Given the description of an element on the screen output the (x, y) to click on. 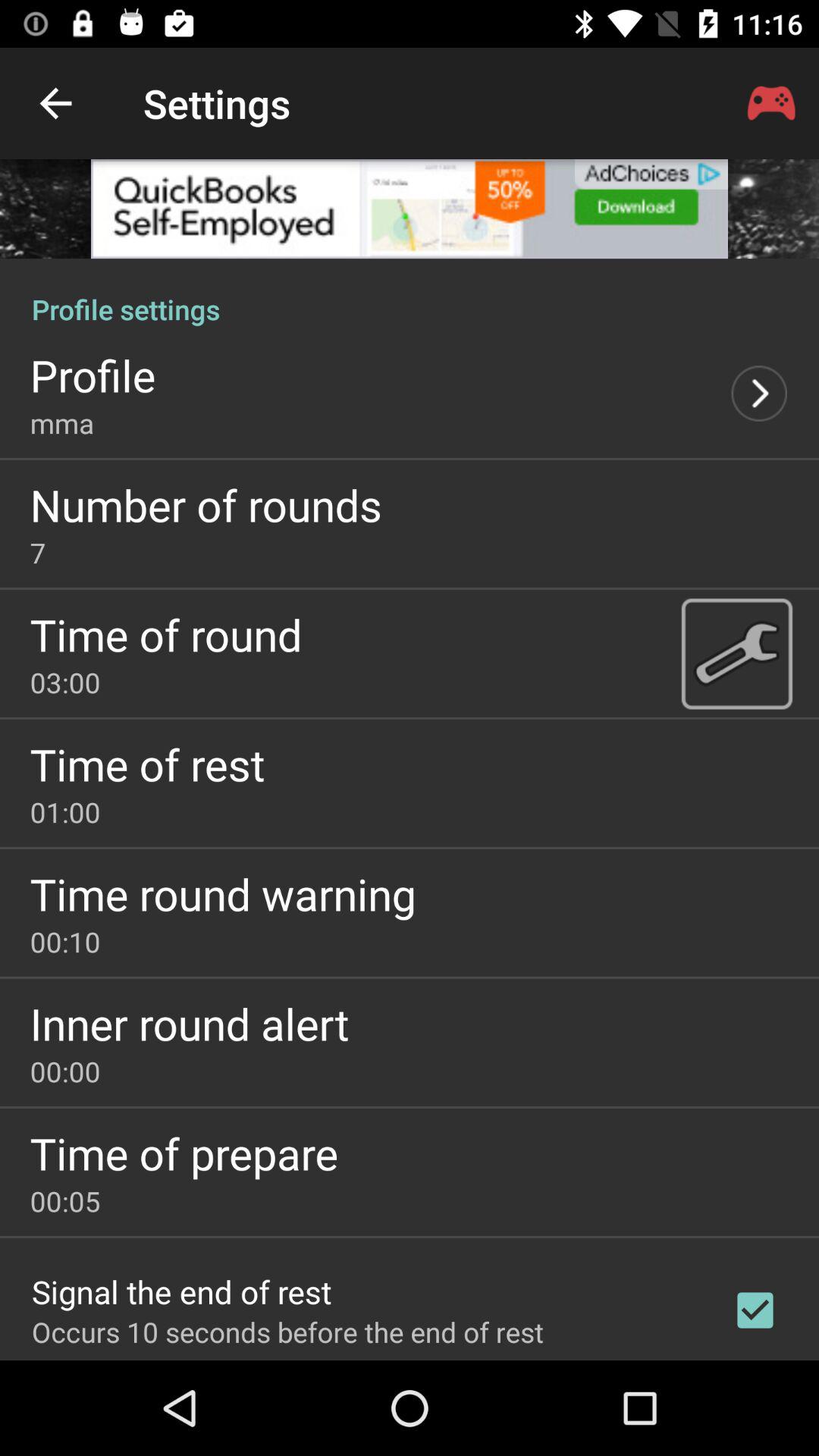
clock settings page (736, 653)
